Given the description of an element on the screen output the (x, y) to click on. 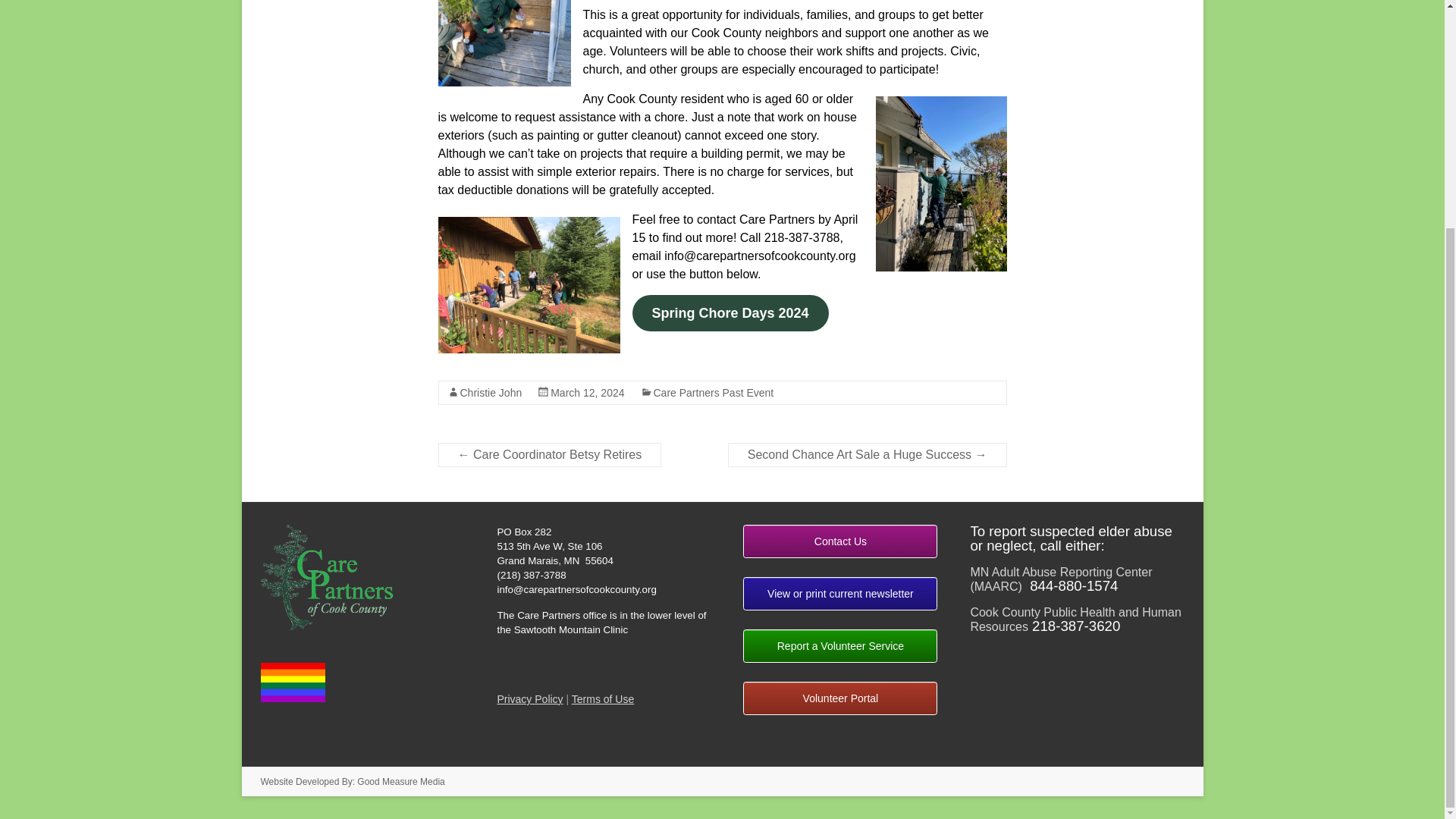
Volunteer Portal (839, 697)
Privacy Policy (529, 698)
Contact Us (839, 540)
Report a Volunteer Service (839, 645)
Christie John (490, 392)
Terms of Use (602, 698)
ThemeGrill (400, 781)
8:23 pm (587, 392)
Cook County Public Health and Human Resources (1074, 619)
Good Measure Media (400, 781)
March 12, 2024 (587, 392)
Spring Chore Days 2024 (729, 312)
Care Partners Past Event (713, 392)
View or print current newsletter (839, 593)
